Given the description of an element on the screen output the (x, y) to click on. 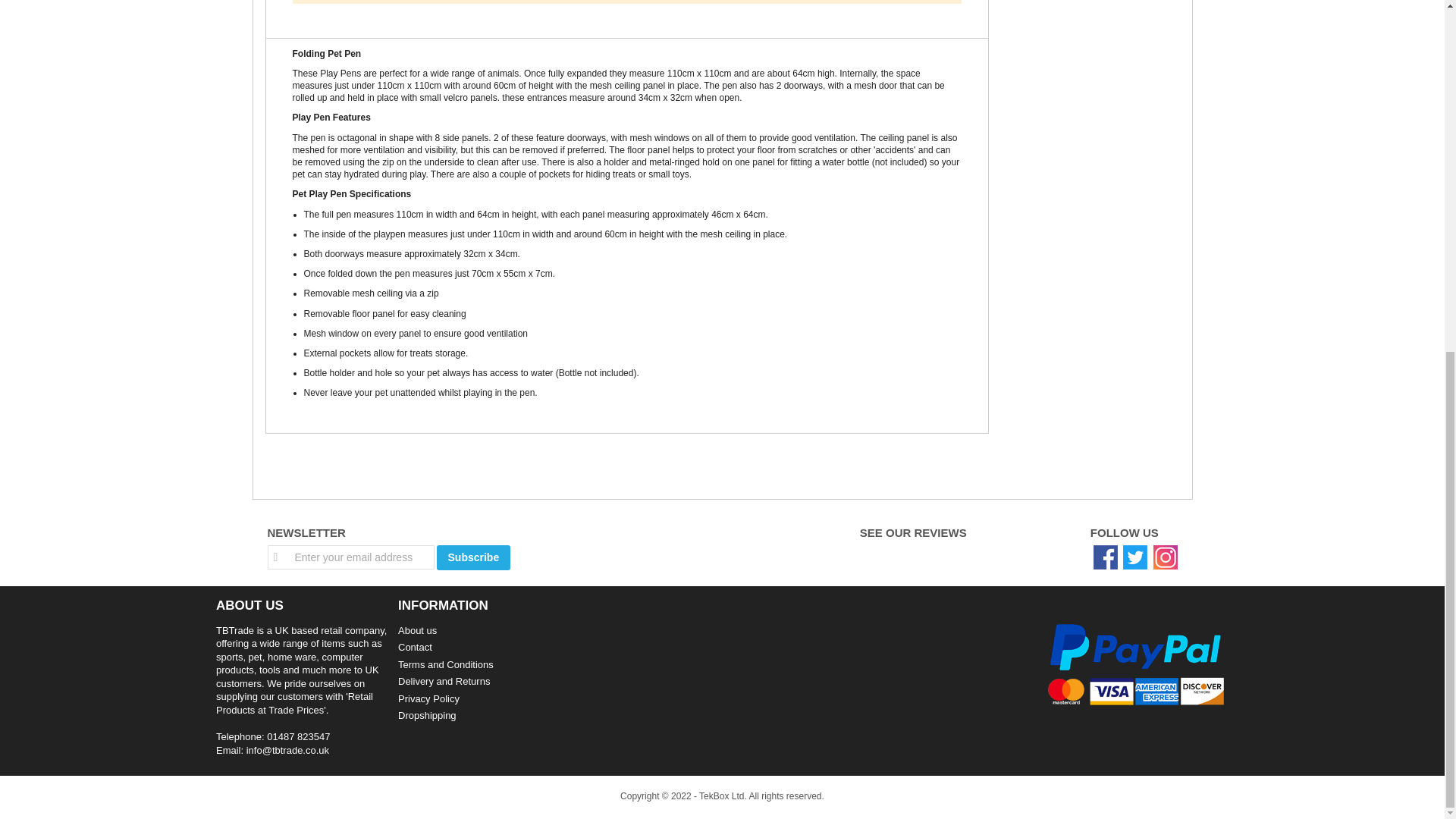
Subscribe (473, 557)
facebook (1105, 556)
Contact (414, 646)
Subscribe (473, 557)
About us (416, 630)
Customer reviews powered by Trustpilot (976, 554)
instagram (1164, 556)
Terms and Conditions (445, 664)
twitter (1134, 556)
